Given the description of an element on the screen output the (x, y) to click on. 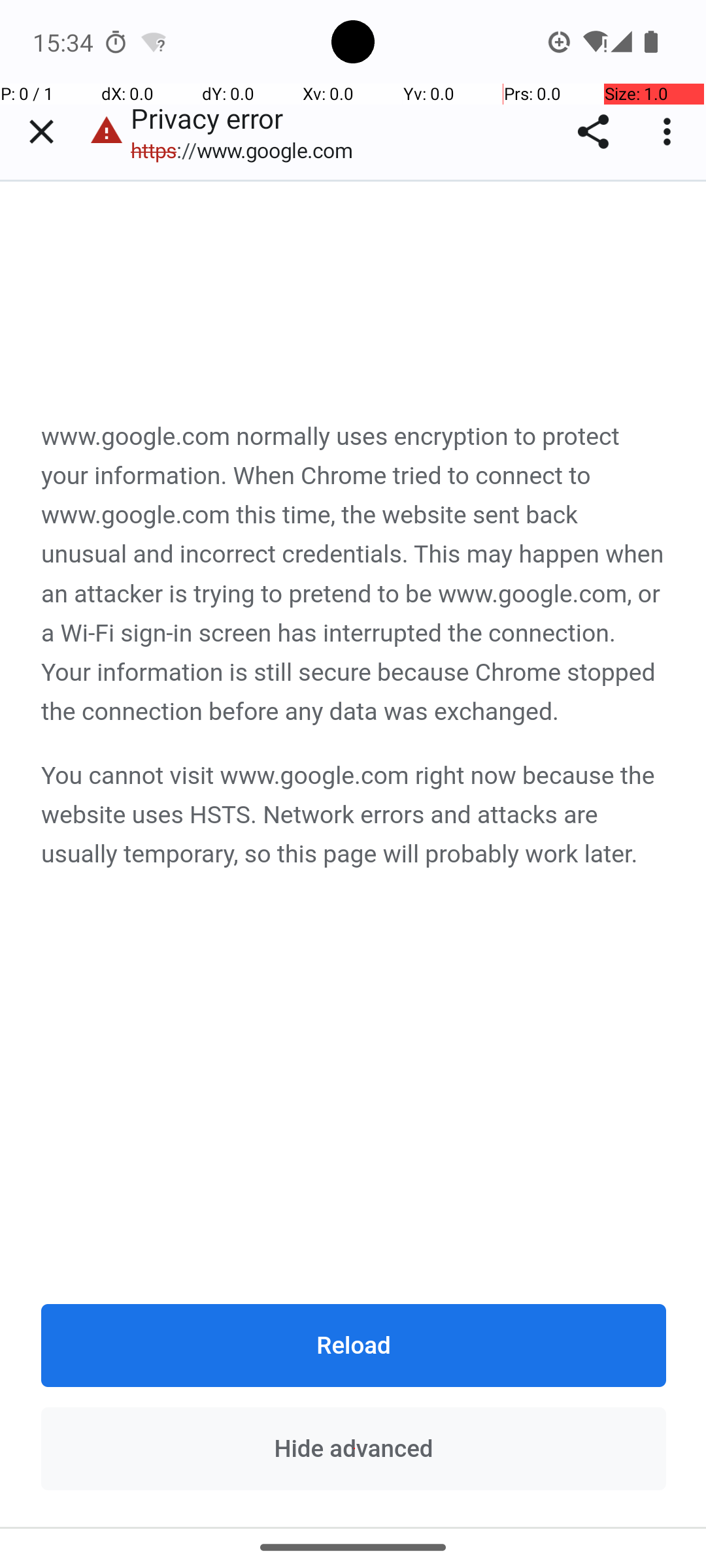
https://www.google.com Element type: android.widget.TextView (248, 149)
Hide advanced Element type: android.widget.Button (354, 1448)
www.google.com normally uses encryption to protect your information. When Chrome tried to connect to www.google.com this time, the website sent back unusual and incorrect credentials. This may happen when an attacker is trying to pretend to be www.google.com, or a Wi-Fi sign-in screen has interrupted the connection. Your information is still secure because Chrome stopped the connection before any data was exchanged. Element type: android.widget.TextView (354, 574)
You cannot visit www.google.com right now because the website uses HSTS. Network errors and attacks are usually temporary, so this page will probably work later. Element type: android.widget.TextView (354, 815)
